Given the description of an element on the screen output the (x, y) to click on. 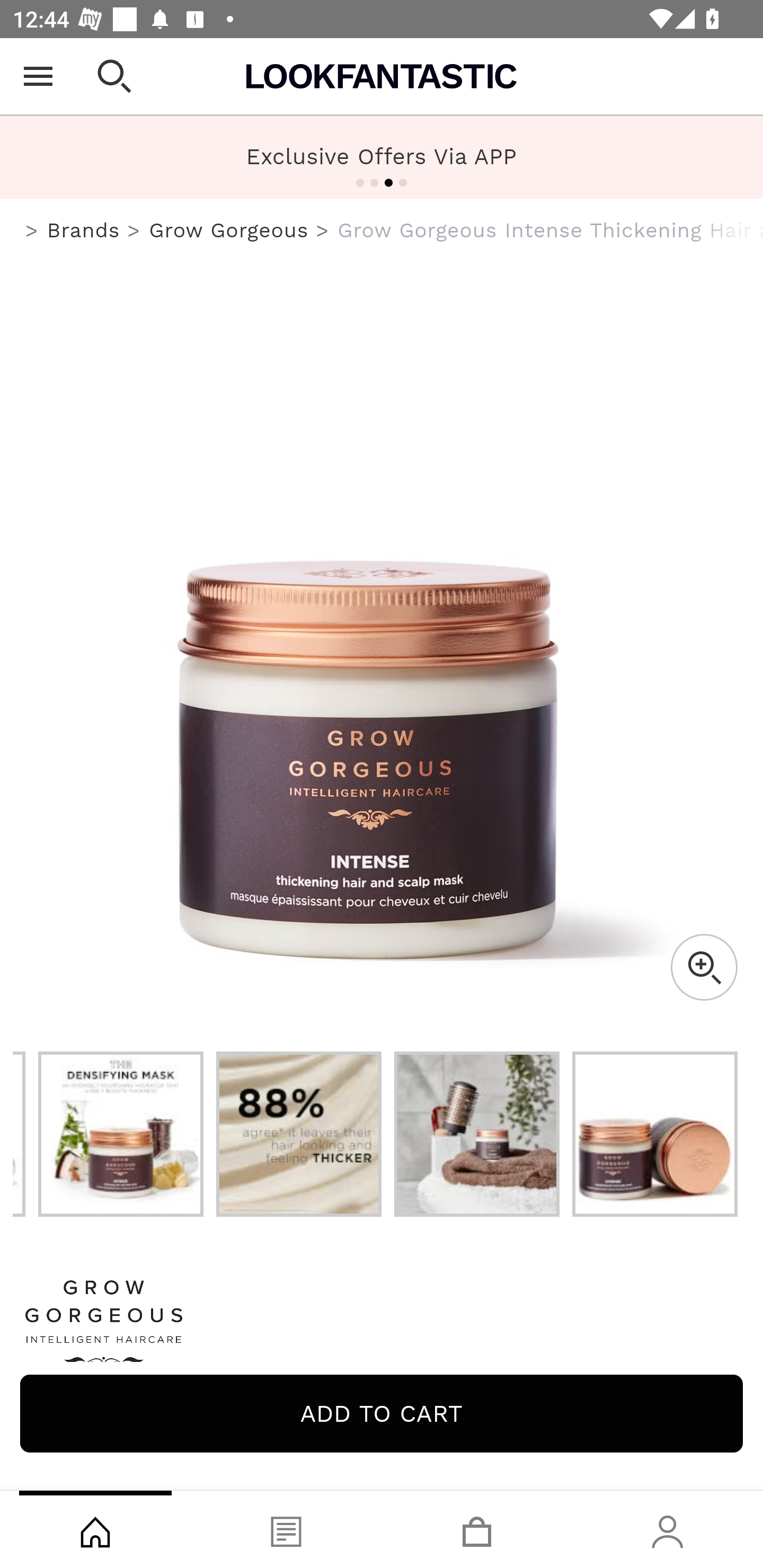
Open Menu (38, 75)
Open search (114, 75)
Lookfantastic USA (381, 75)
us.lookfantastic (32, 230)
Brands (82, 230)
Grow Gorgeous (228, 230)
Zoom (703, 966)
Grow Gorgeous (381, 1327)
Add to cart (381, 1413)
Shop, tab, 1 of 4 (95, 1529)
Blog, tab, 2 of 4 (285, 1529)
Basket, tab, 3 of 4 (476, 1529)
Account, tab, 4 of 4 (667, 1529)
